Given the description of an element on the screen output the (x, y) to click on. 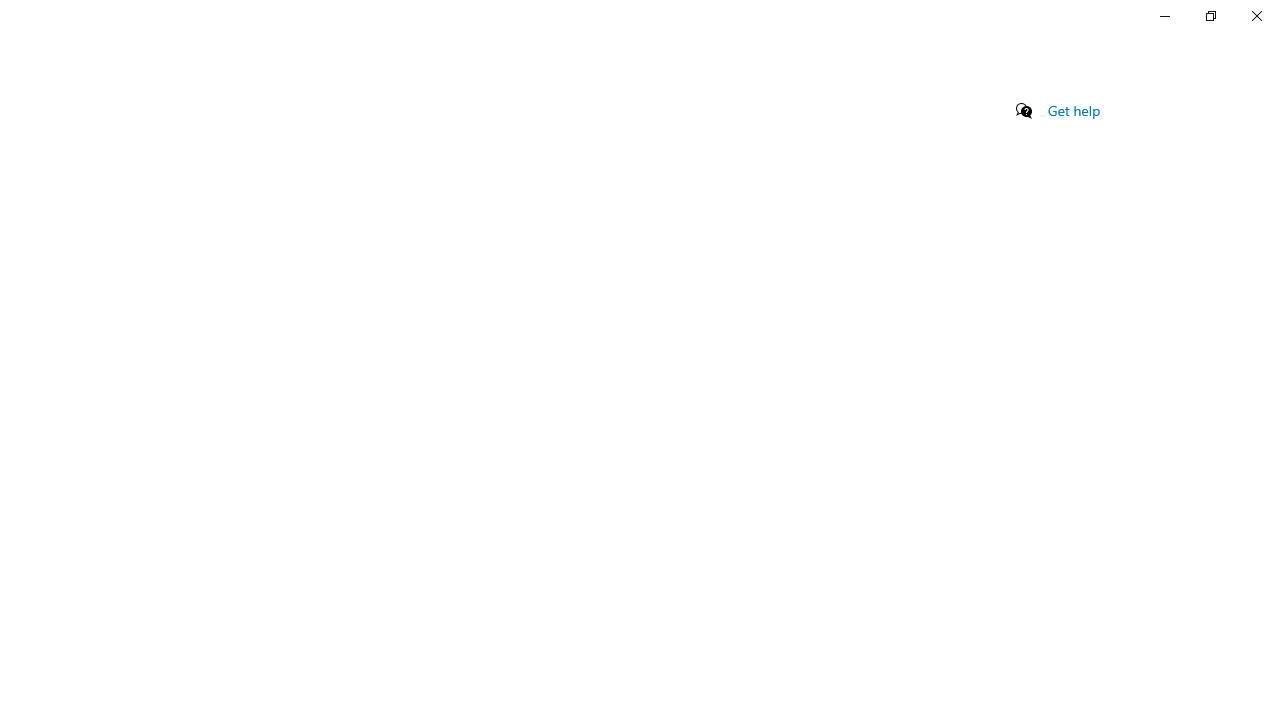
Close Settings (1256, 15)
Restore Settings (1210, 15)
Minimize Settings (1164, 15)
Get help (1074, 110)
